Given the description of an element on the screen output the (x, y) to click on. 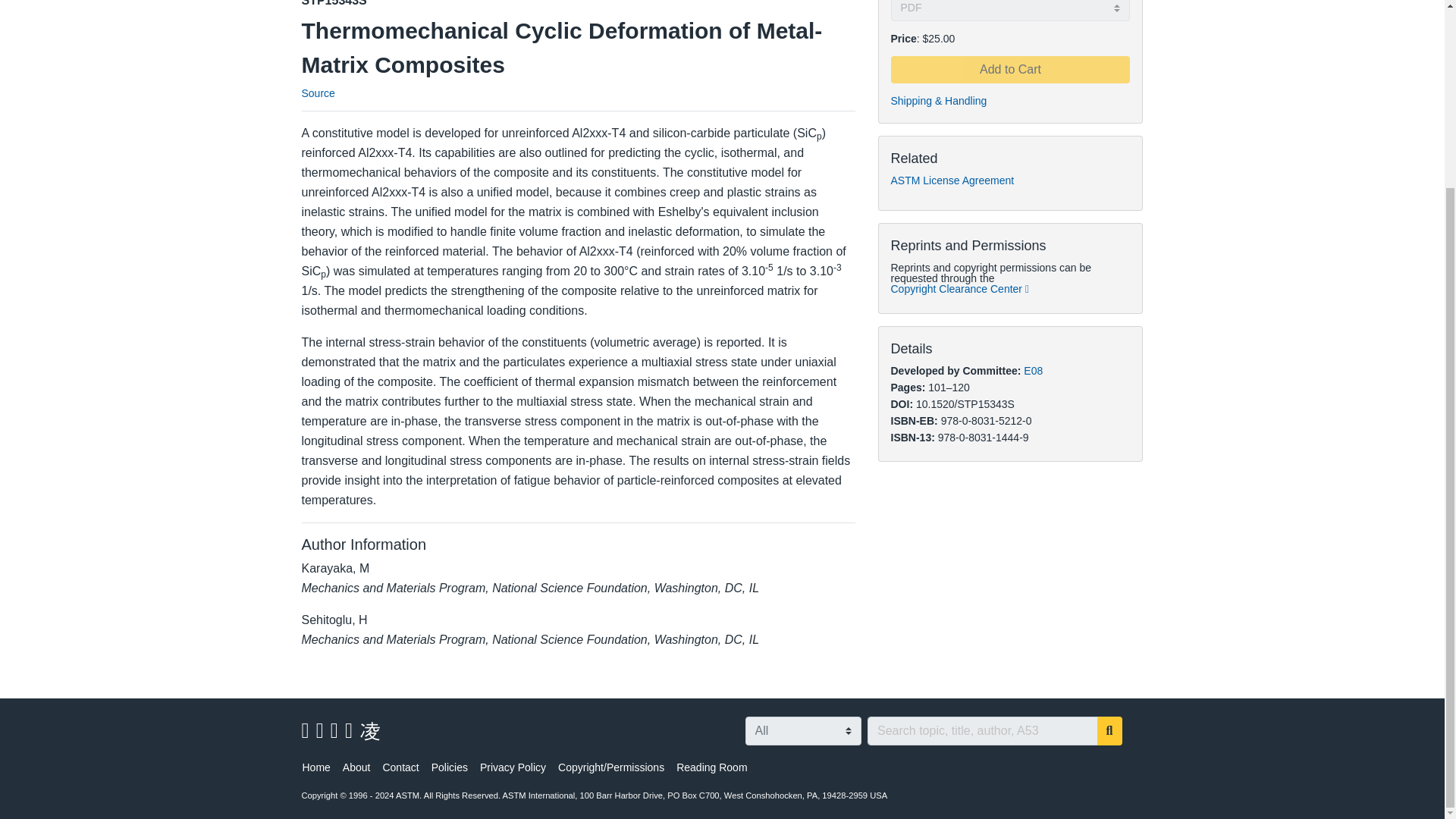
Search (1109, 730)
Add to Cart (1009, 69)
